Given the description of an element on the screen output the (x, y) to click on. 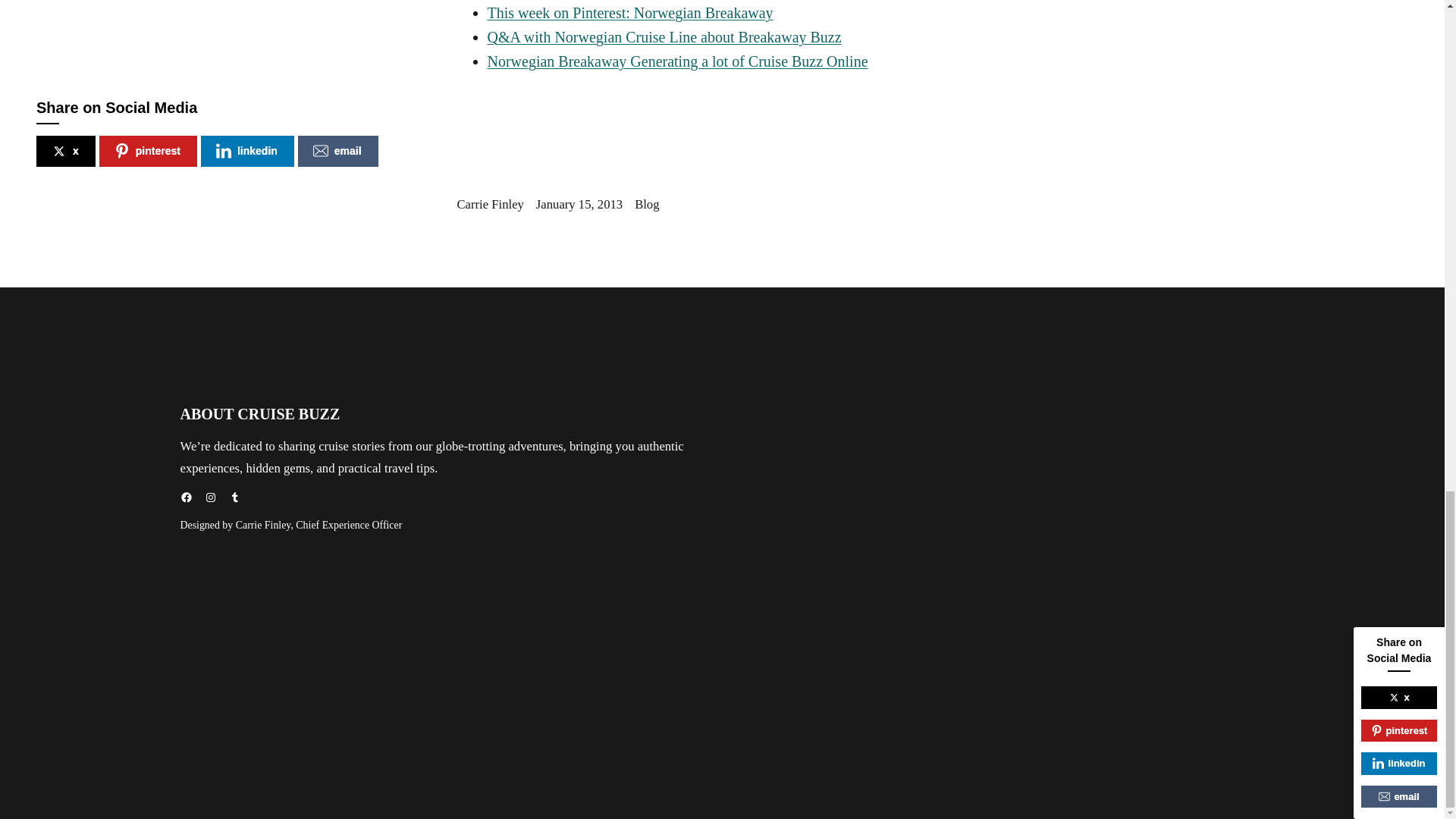
This week on Pinterest: Norwegian Breakaway (629, 12)
pinterest (147, 151)
linkedin (247, 151)
email (338, 151)
Norwegian Breakaway Generating a lot of Cruise Buzz Online (676, 61)
x (66, 151)
